Given the description of an element on the screen output the (x, y) to click on. 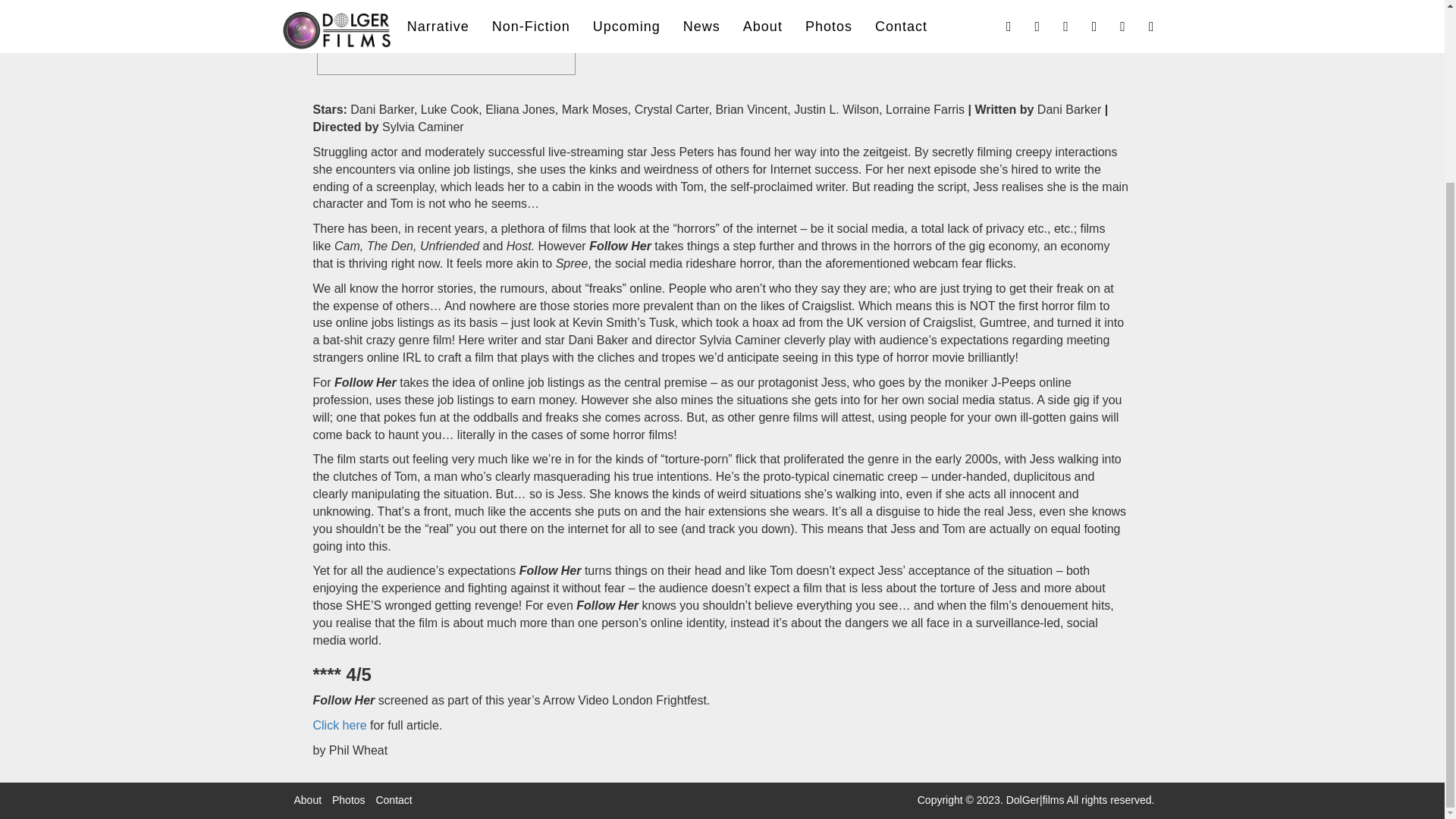
Contact (393, 799)
Click here (339, 725)
About (307, 799)
Photos (348, 799)
